Given the description of an element on the screen output the (x, y) to click on. 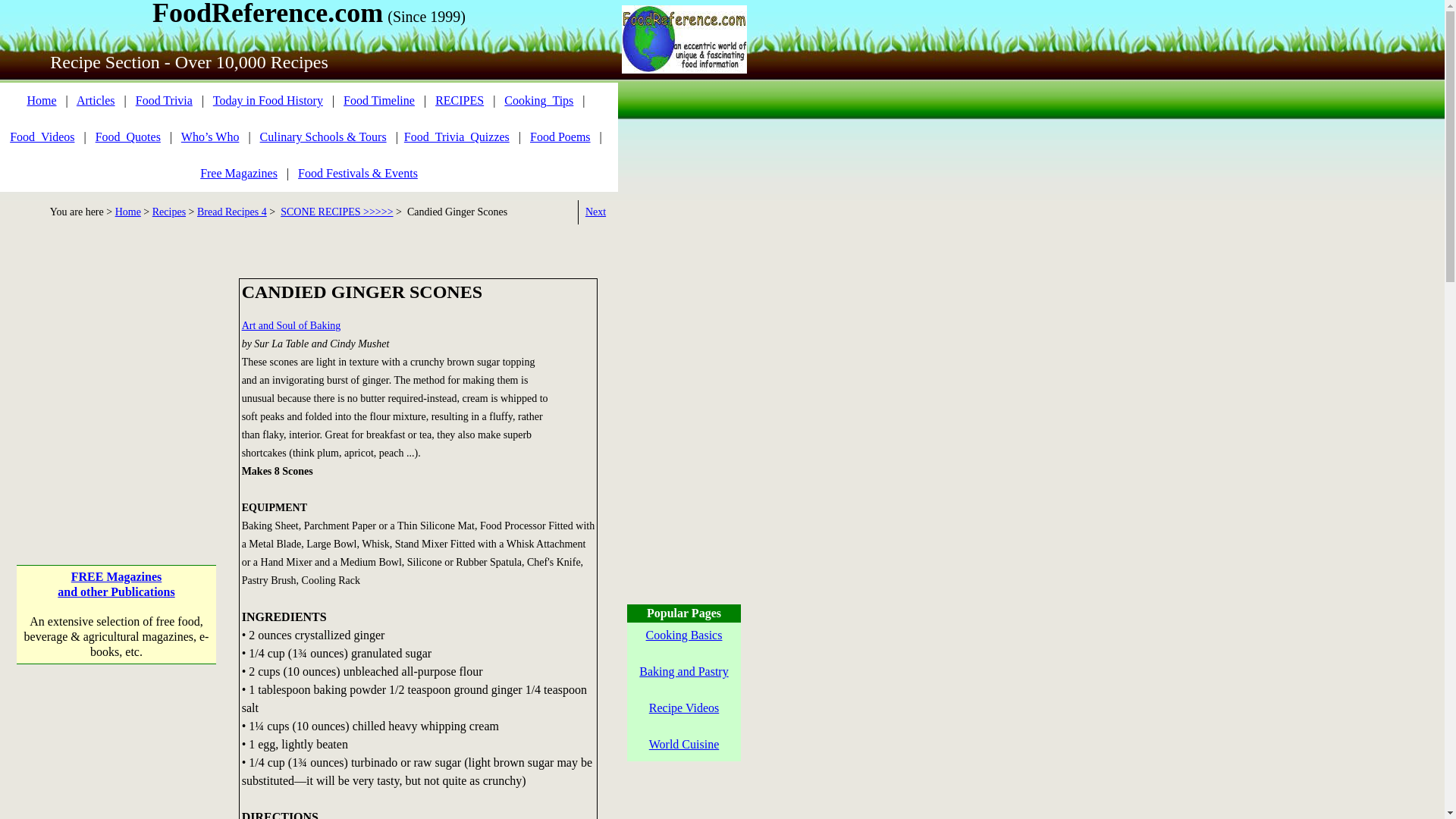
Recipes (169, 211)
Food Trivia (163, 100)
Advertisement (116, 778)
Advertisement (116, 372)
Advertisement (683, 811)
Home (41, 100)
Art and Soul of Baking (290, 325)
Food Timeline (378, 100)
Today in Food History (267, 100)
RECIPES (459, 100)
